Given the description of an element on the screen output the (x, y) to click on. 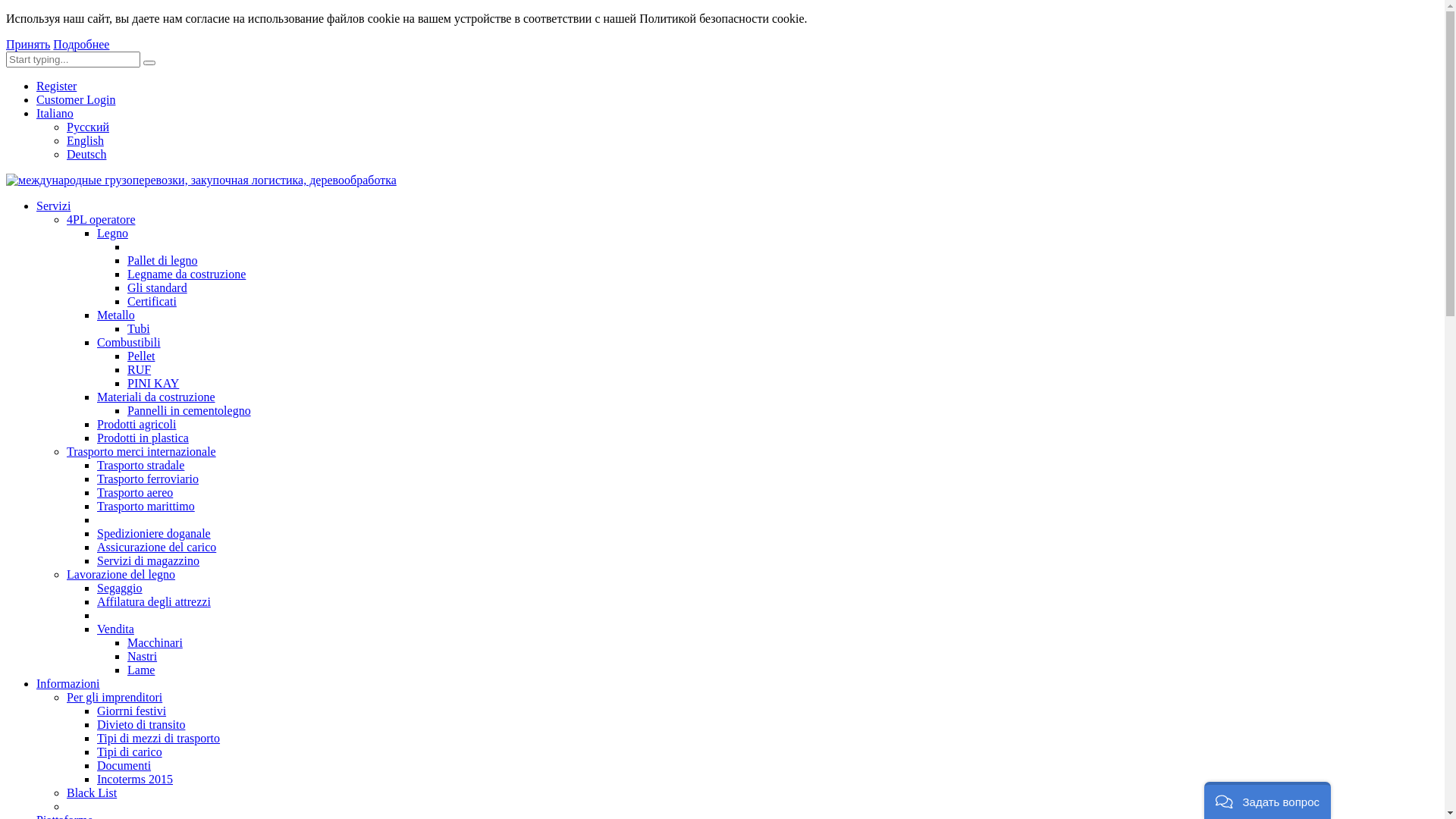
Materiali da costruzione Element type: text (156, 396)
Affilatura degli attrezzi Element type: text (153, 601)
Metallo Element type: text (115, 314)
Italiano Element type: text (54, 112)
Assicurazione del carico Element type: text (156, 546)
Nastri Element type: text (141, 655)
Spedizioniere doganale Element type: text (153, 533)
Macchinari Element type: text (154, 642)
Segaggio Element type: text (119, 587)
Trasporto aereo Element type: text (134, 492)
PINI KAY Element type: text (152, 382)
Divieto di transito Element type: text (141, 724)
Trasporto merci internazionale Element type: text (141, 451)
Trasporto marittimo Element type: text (145, 505)
Tipi di carico Element type: text (129, 751)
Pannelli in cementolegno Element type: text (189, 410)
Gli standard Element type: text (157, 287)
Prodotti in plastica Element type: text (142, 437)
Vendita Element type: text (115, 628)
Trasporto ferroviario Element type: text (147, 478)
Trasporto stradale Element type: text (140, 464)
Lame Element type: text (140, 669)
Black List Element type: text (91, 792)
Servizi Element type: text (53, 205)
Lavorazione del legno Element type: text (120, 573)
Per gli imprenditori Element type: text (114, 696)
Documenti Element type: text (123, 765)
Informazioni Element type: text (68, 683)
Deutsch Element type: text (86, 153)
Pallet di legno Element type: text (162, 260)
Customer Login Element type: text (75, 99)
Certificati Element type: text (151, 300)
Prodotti agricoli Element type: text (136, 423)
Tubi Element type: text (138, 328)
4PL operatore Element type: text (100, 219)
Legno Element type: text (112, 232)
RUF Element type: text (138, 369)
Incoterms 2015 Element type: text (134, 778)
Register Element type: text (56, 85)
Legname da costruzione Element type: text (186, 273)
English Element type: text (84, 140)
Pellet Element type: text (140, 355)
Servizi di magazzino Element type: text (148, 560)
Tipi di mezzi di trasporto Element type: text (158, 737)
Combustibili Element type: text (128, 341)
Giorrni festivi Element type: text (131, 710)
